Given the description of an element on the screen output the (x, y) to click on. 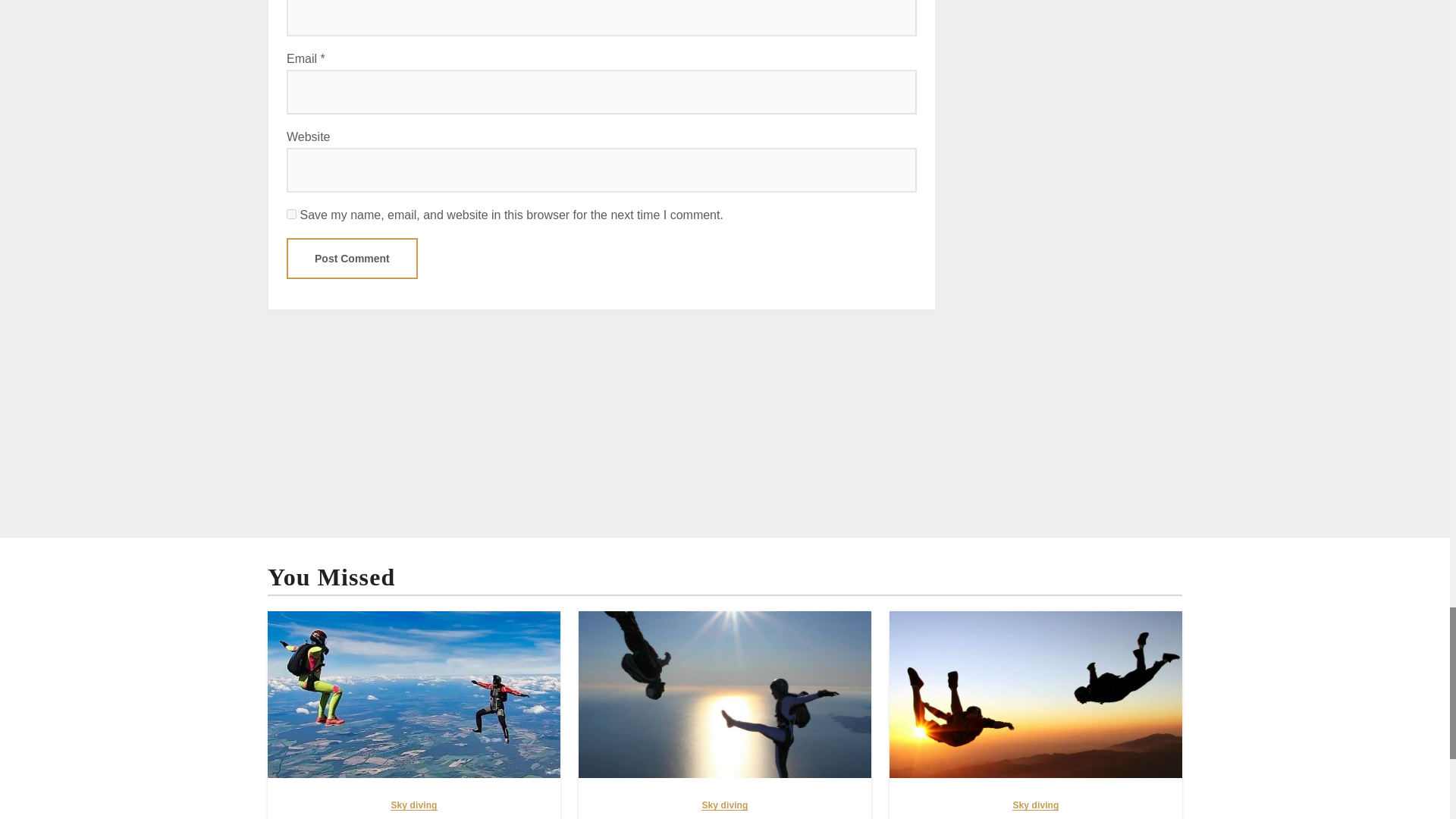
Post Comment (351, 258)
yes (291, 214)
